Given the description of an element on the screen output the (x, y) to click on. 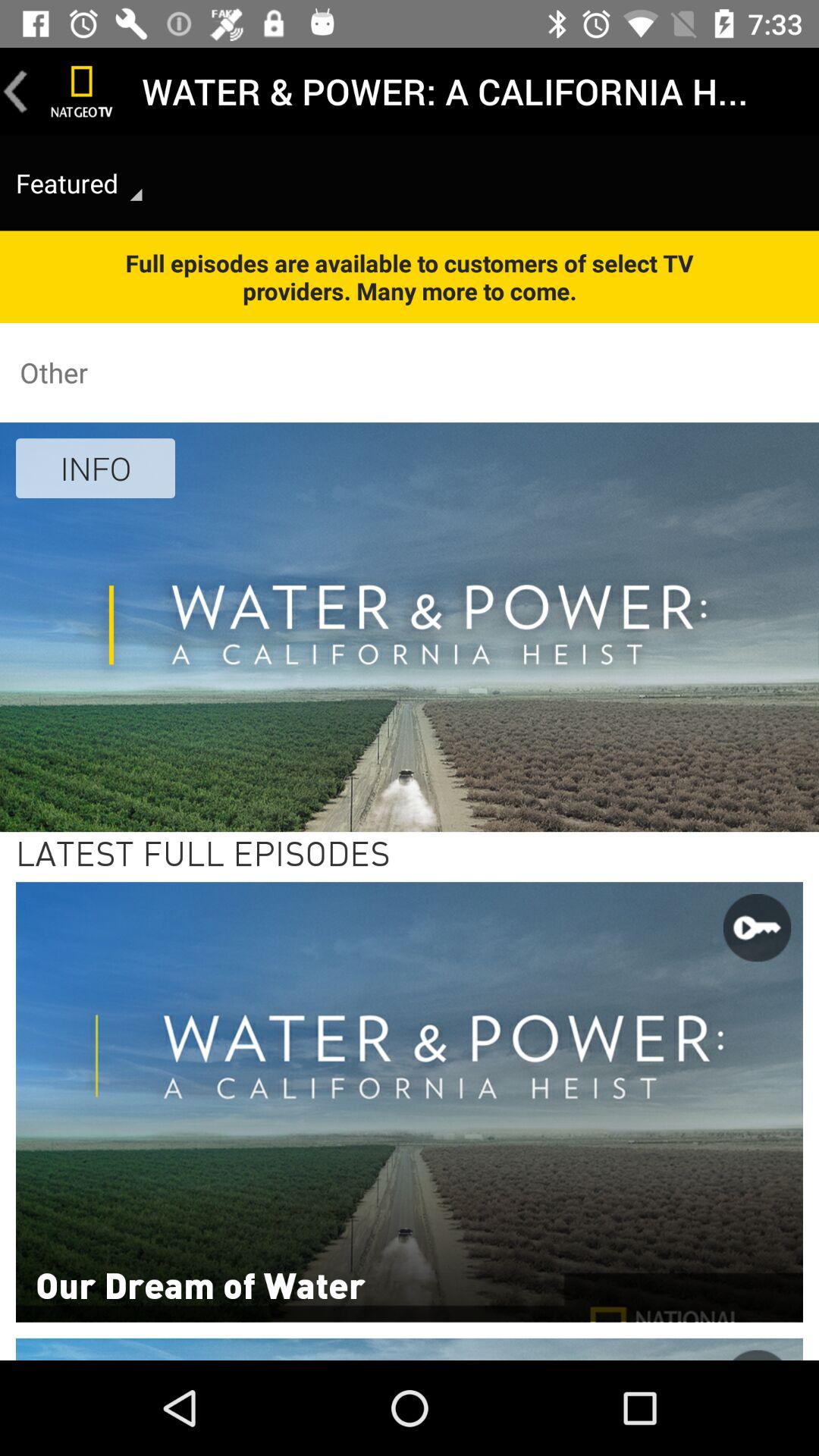
return to previous screen (15, 91)
